Given the description of an element on the screen output the (x, y) to click on. 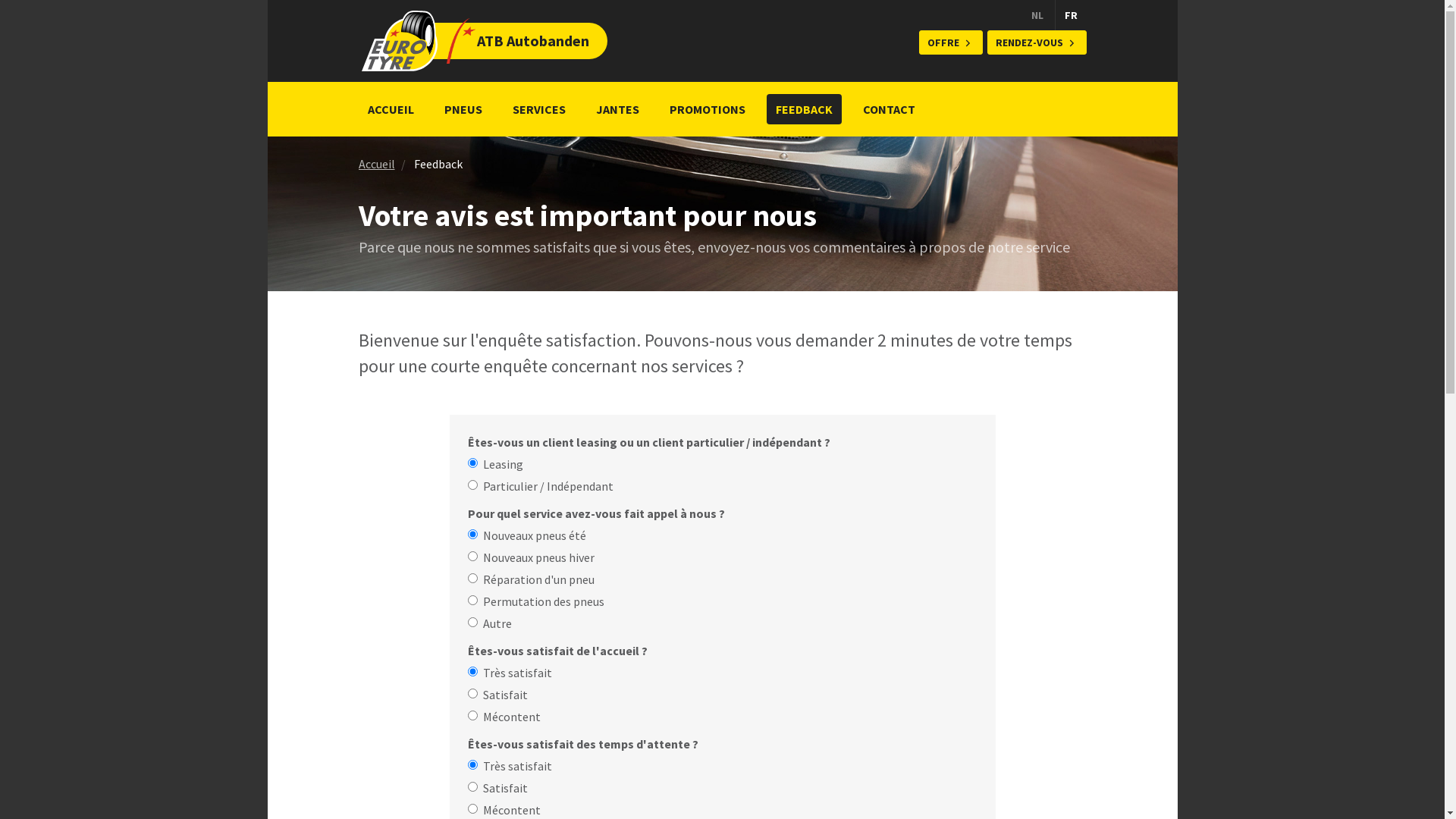
NL Element type: text (1037, 15)
PNEUS Element type: text (463, 109)
SERVICES Element type: text (538, 109)
Feedback Element type: text (438, 163)
PROMOTIONS Element type: text (706, 109)
FEEDBACK Element type: text (802, 109)
ACCUEIL Element type: text (389, 109)
CONTACT Element type: text (888, 109)
JANTES Element type: text (617, 109)
ATB Autobanden Element type: text (459, 40)
RENDEZ-VOUS Element type: text (1036, 42)
Accueil Element type: text (375, 163)
FR Element type: text (1070, 15)
OFFRE Element type: text (950, 42)
